Given the description of an element on the screen output the (x, y) to click on. 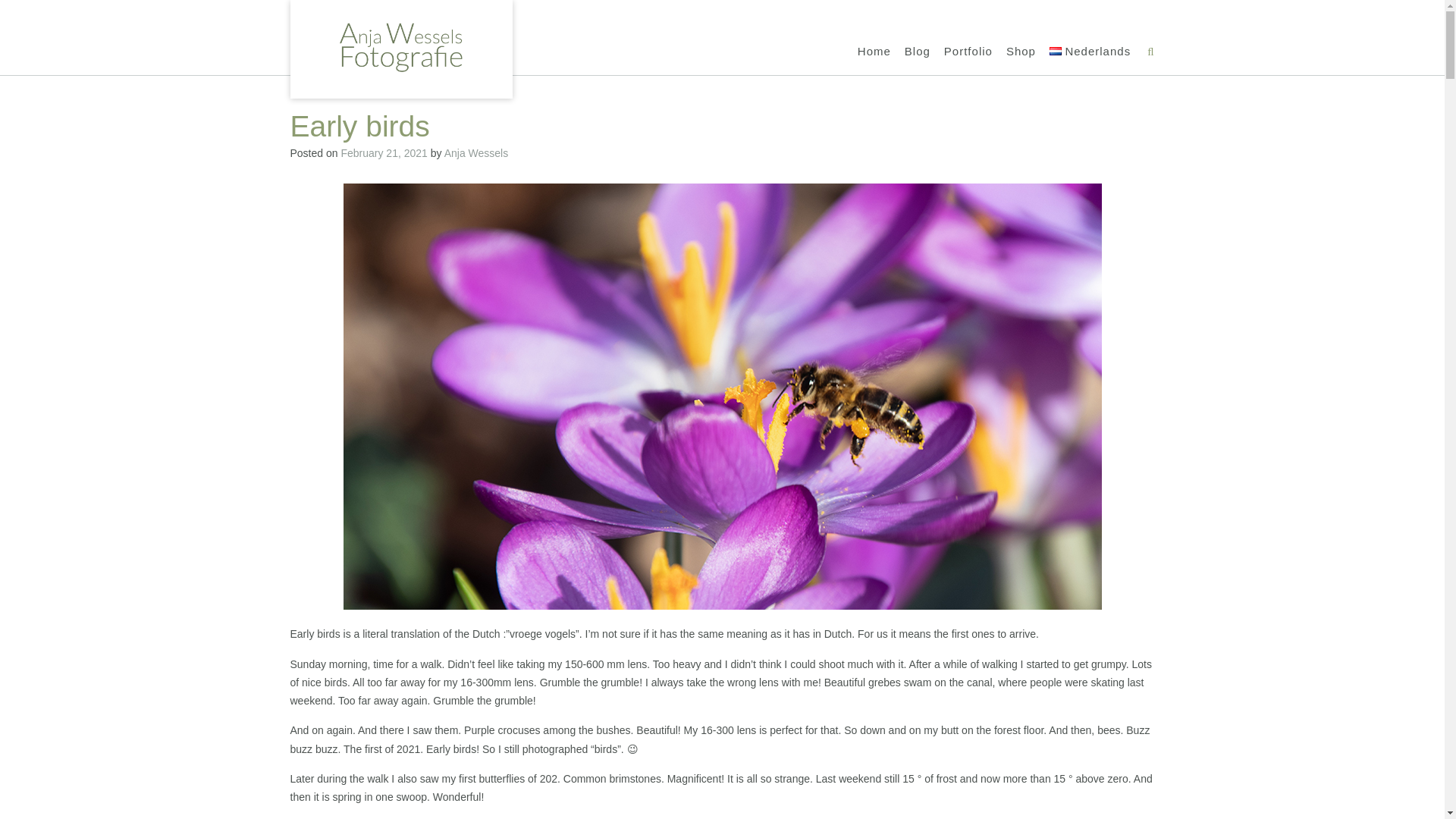
Blog (917, 51)
Portfolio (967, 51)
Shop (1020, 51)
Nederlands (1090, 51)
Anja Wessels (476, 152)
Home (874, 51)
February 21, 2021 (383, 152)
